Given the description of an element on the screen output the (x, y) to click on. 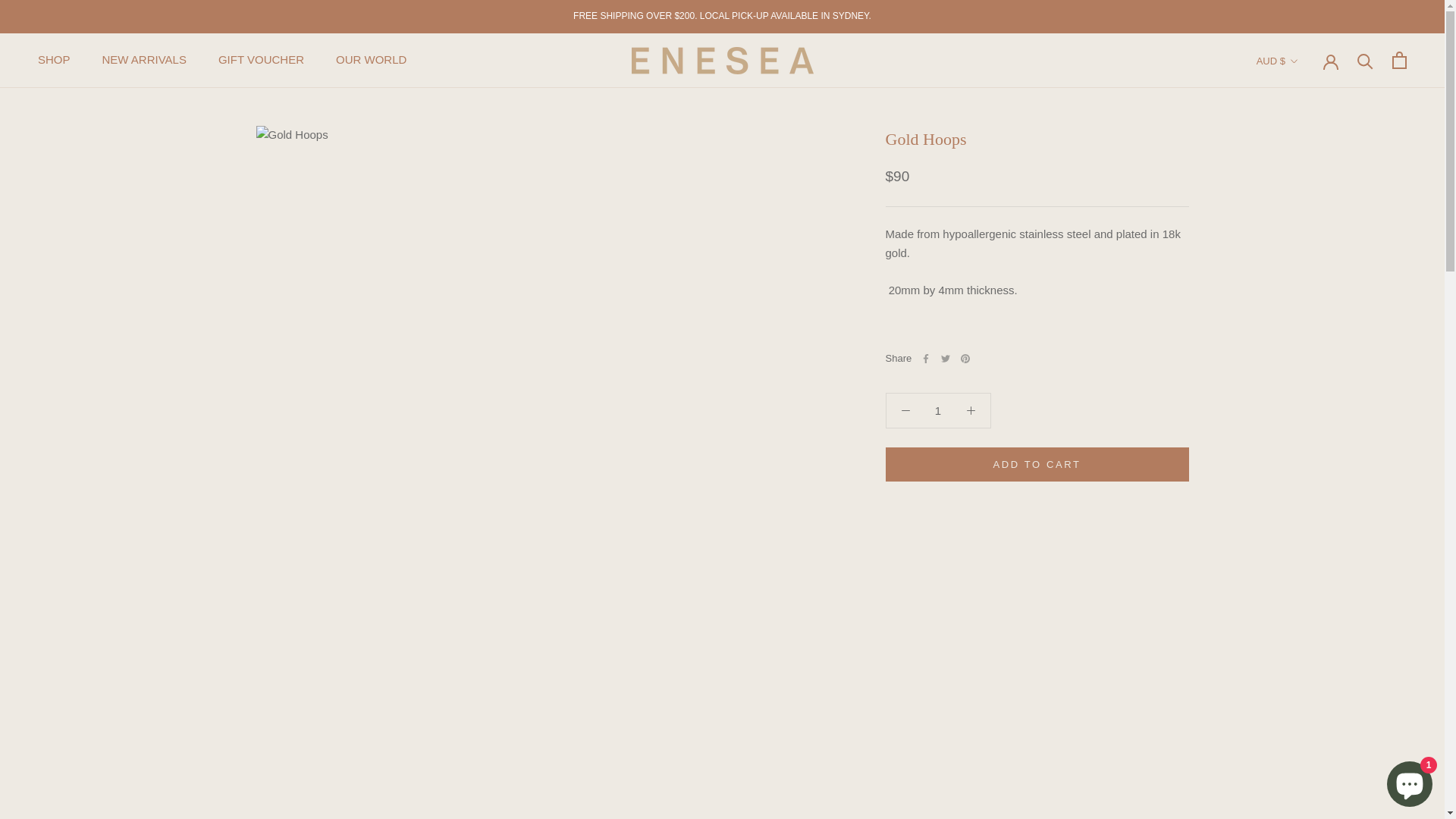
CNY Element type: text (1303, 596)
AMD Element type: text (1303, 167)
BOB Element type: text (1303, 430)
BBD Element type: text (1303, 310)
BZD Element type: text (1303, 501)
AZN Element type: text (1303, 263)
CVE Element type: text (1303, 644)
CRC Element type: text (1303, 620)
Shopify online store chat Element type: hover (1409, 780)
AED Element type: text (1303, 96)
BND Element type: text (1303, 405)
BWP Element type: text (1303, 477)
CZK Element type: text (1303, 668)
BSD Element type: text (1303, 453)
BIF Element type: text (1303, 382)
AFN Element type: text (1303, 119)
BGN Element type: text (1303, 358)
GIFT VOUCHER
GIFT VOUCHER Element type: text (261, 59)
OUR WORLD Element type: text (370, 59)
CAD Element type: text (1303, 524)
EGP Element type: text (1303, 787)
SHOP Element type: text (53, 59)
NEW ARRIVALS
NEW ARRIVALS Element type: text (144, 59)
DJF Element type: text (1303, 691)
ALL Element type: text (1303, 143)
DZD Element type: text (1303, 763)
BAM Element type: text (1303, 286)
ANG Element type: text (1303, 191)
DOP Element type: text (1303, 739)
AWG Element type: text (1303, 239)
AUD $ Element type: text (1277, 60)
ADD TO CART Element type: text (1037, 464)
BDT Element type: text (1303, 334)
AUD Element type: text (1303, 215)
DKK Element type: text (1303, 716)
CHF Element type: text (1303, 572)
CDF Element type: text (1303, 549)
